Given the description of an element on the screen output the (x, y) to click on. 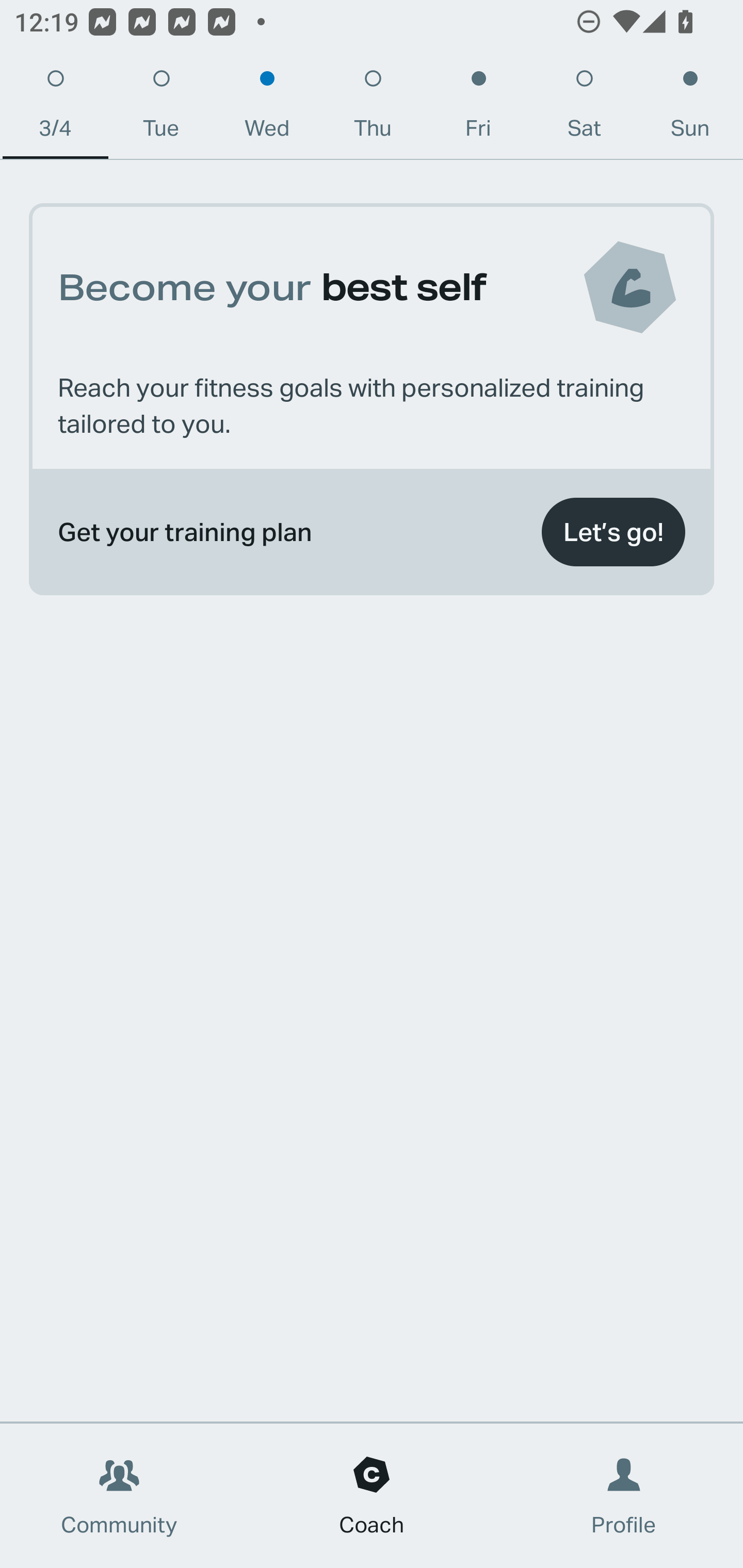
3/4 (55, 108)
Tue (160, 108)
Wed (266, 108)
Thu (372, 108)
Fri (478, 108)
Sat (584, 108)
Sun (690, 108)
Let’s go! (613, 532)
Community (119, 1495)
Profile (624, 1495)
